Given the description of an element on the screen output the (x, y) to click on. 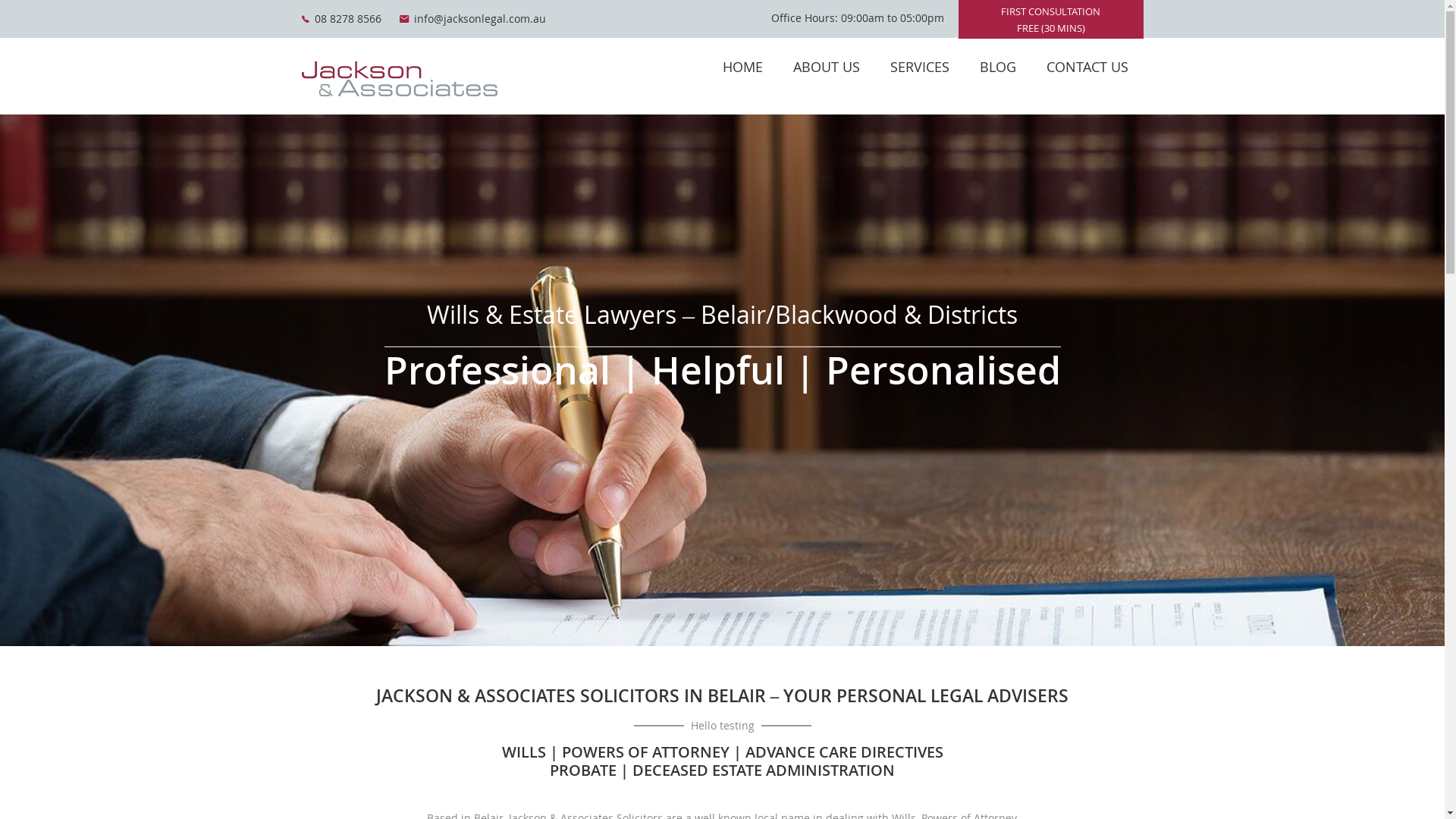
info@jacksonlegal.com.au Element type: text (471, 18)
BLOG Element type: text (997, 66)
ABOUT US Element type: text (826, 66)
HOME Element type: text (741, 66)
CONTACT US Element type: text (1087, 66)
08 8278 8566 Element type: text (341, 18)
SERVICES Element type: text (919, 66)
FIRST CONSULTATION
FREE (30 MINS) Element type: text (1050, 19)
